Given the description of an element on the screen output the (x, y) to click on. 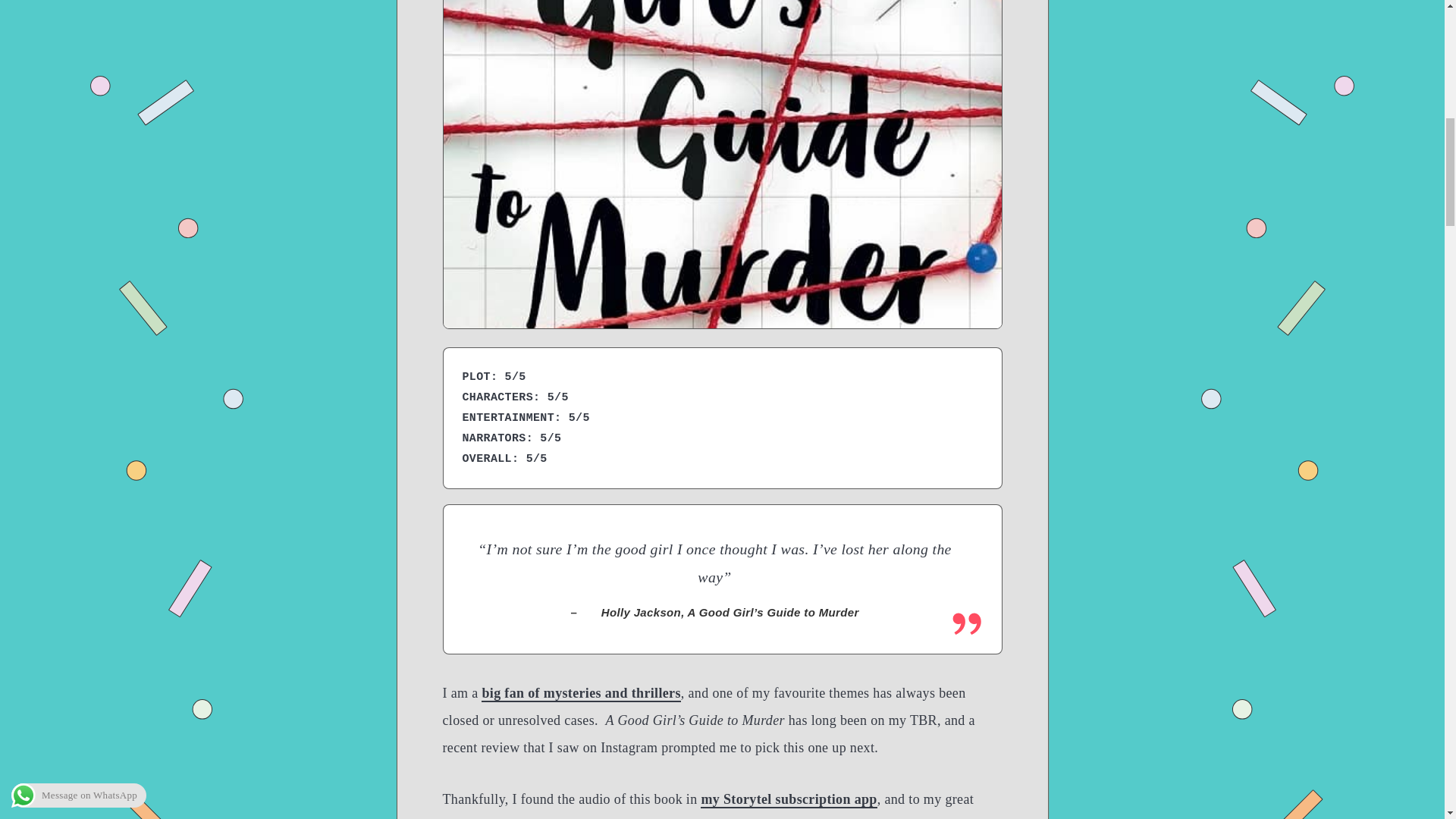
big fan of mysteries and thrillers (580, 693)
my Storytel subscription app (788, 799)
